Given the description of an element on the screen output the (x, y) to click on. 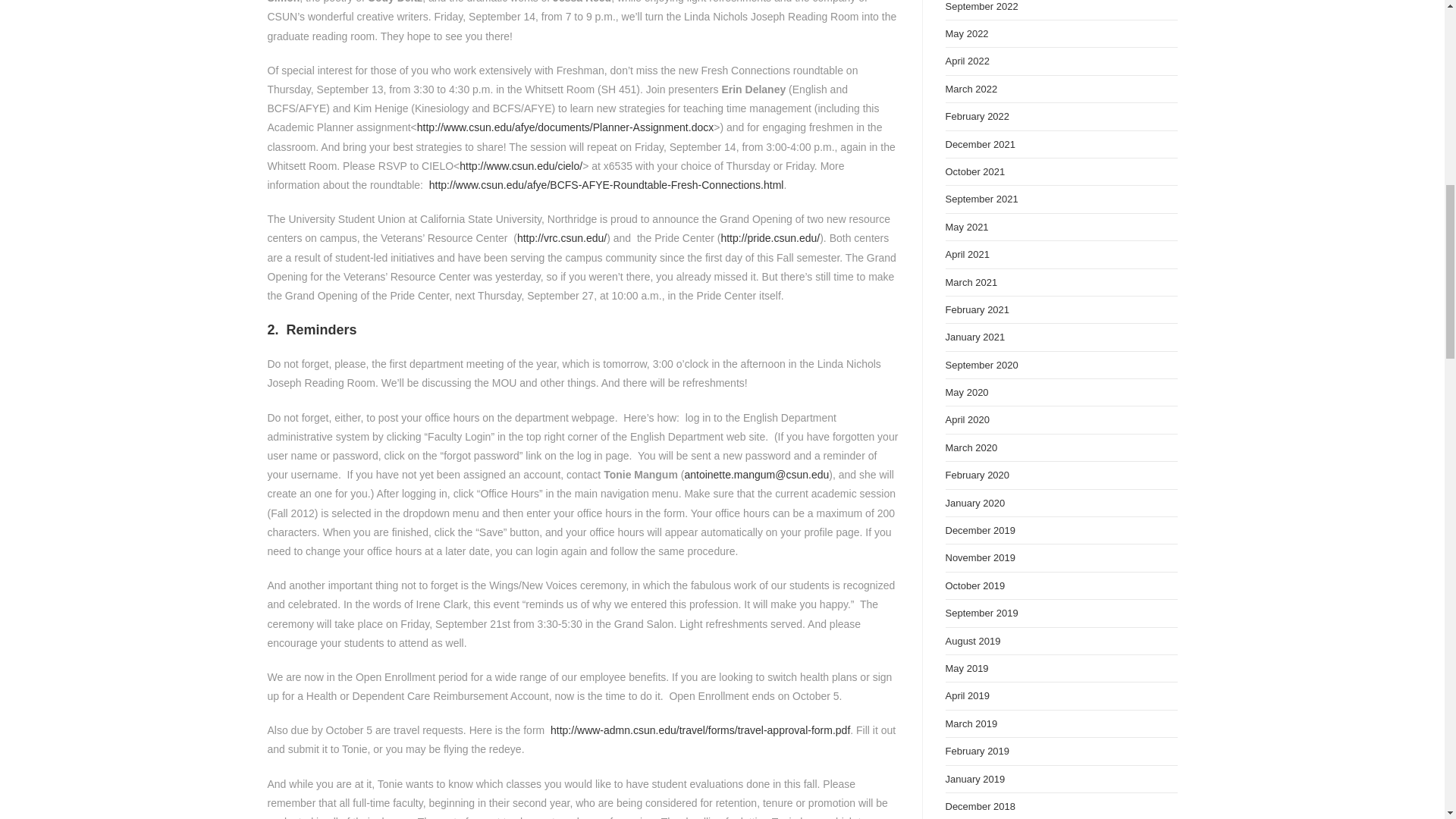
Fresh Connections Round Table (606, 184)
Pride Center (769, 237)
CIELO (521, 165)
Travel request form (698, 729)
Academic Planner Assignment for freshmen (564, 127)
Veteran's Resource Center (561, 237)
